Given the description of an element on the screen output the (x, y) to click on. 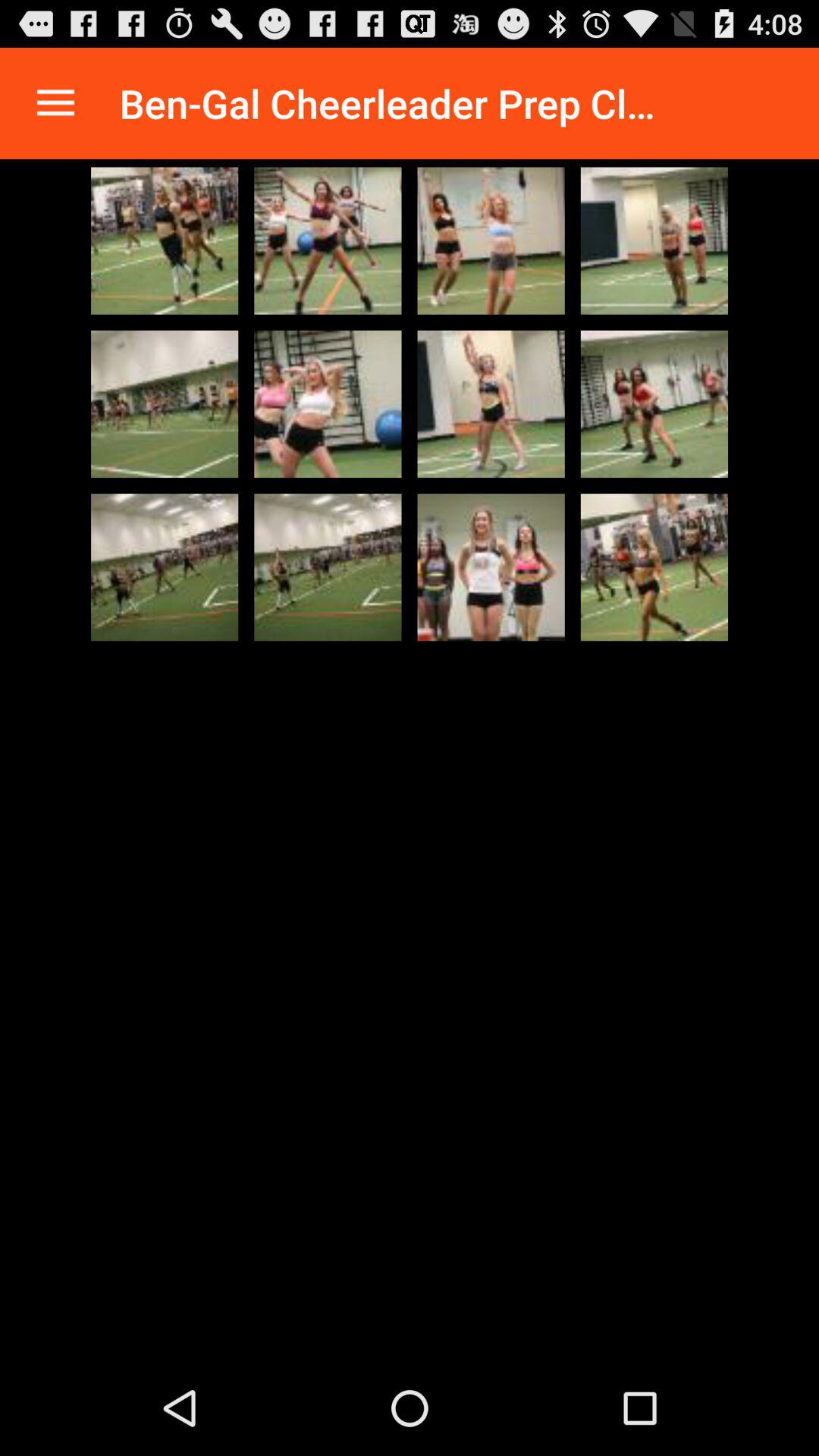
drop down menu (55, 103)
